Given the description of an element on the screen output the (x, y) to click on. 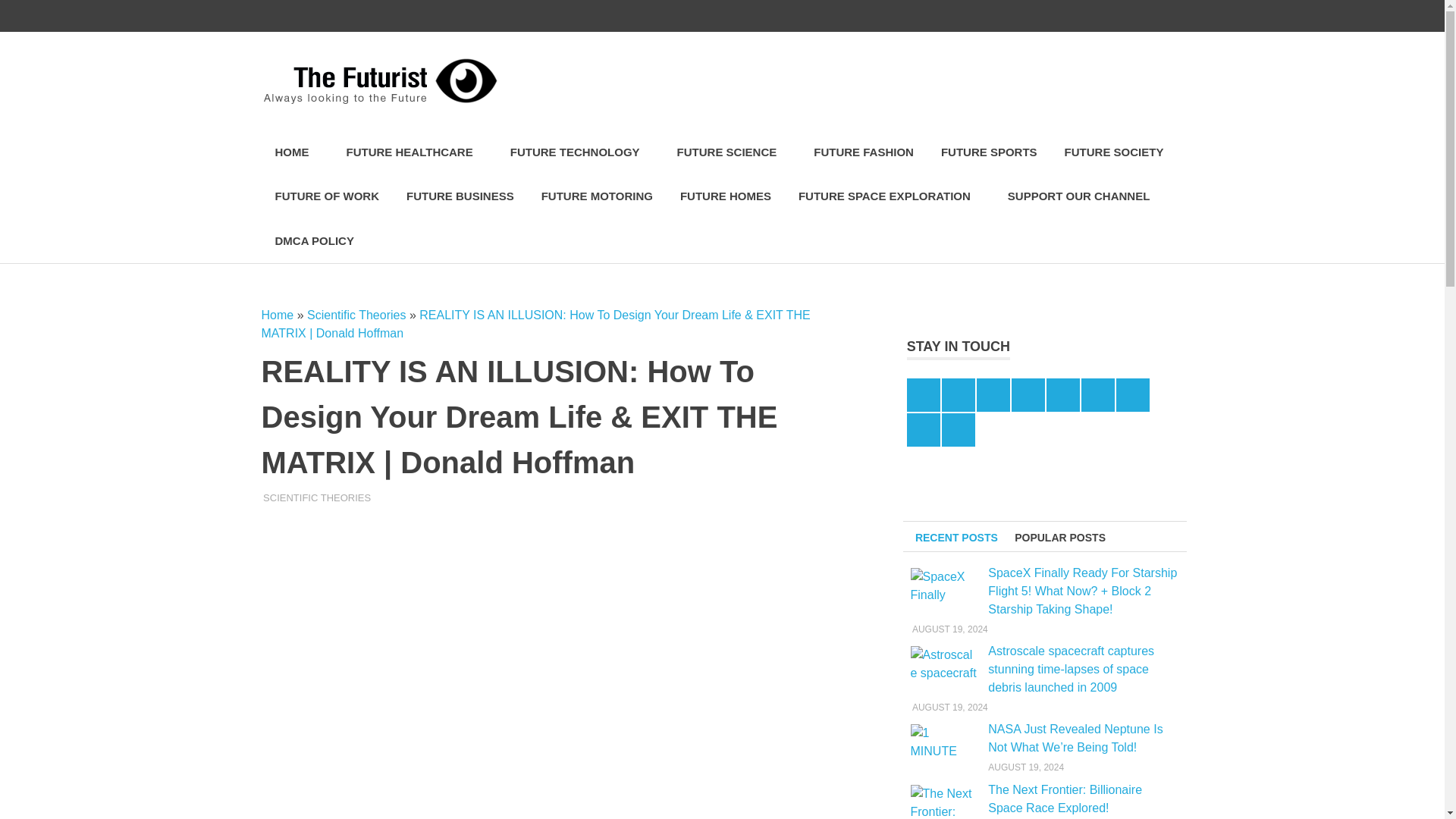
Flipboard (1039, 15)
facebook (912, 15)
Telegram Group Chat (1135, 15)
Scientific Theories (356, 314)
HOME (295, 152)
rss (1103, 15)
Pinterest (1007, 15)
FUTURE TECHNOLOGY (579, 152)
FUTURE HEALTHCARE (413, 152)
Gettr (1166, 15)
